Given the description of an element on the screen output the (x, y) to click on. 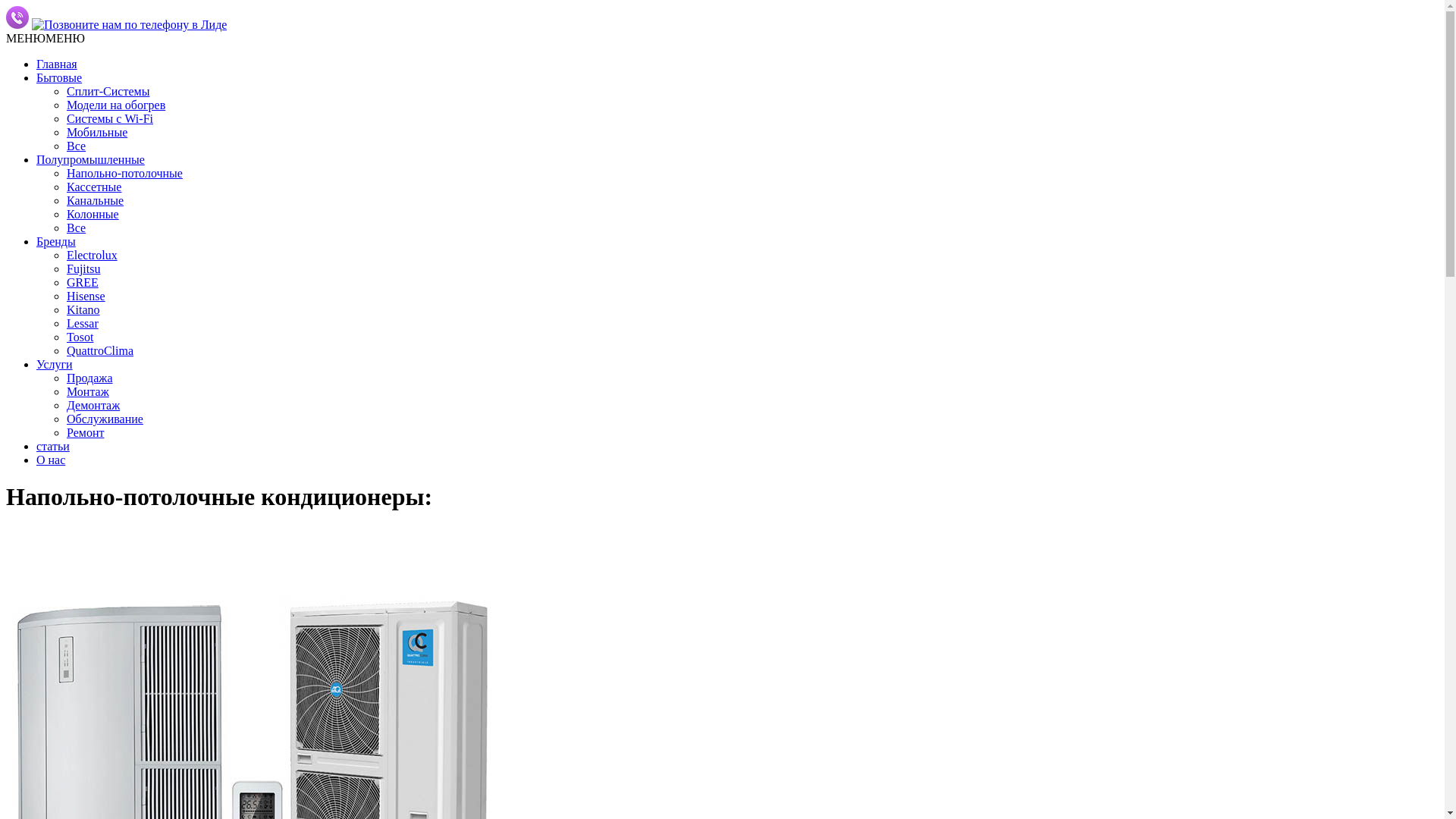
Tosot Element type: text (79, 336)
Kitano Element type: text (83, 309)
QuattroClima Element type: text (99, 350)
Electrolux Element type: text (91, 254)
Hisense Element type: text (85, 295)
GREE Element type: text (82, 282)
Lessar Element type: text (82, 322)
Fujitsu Element type: text (83, 268)
